Given the description of an element on the screen output the (x, y) to click on. 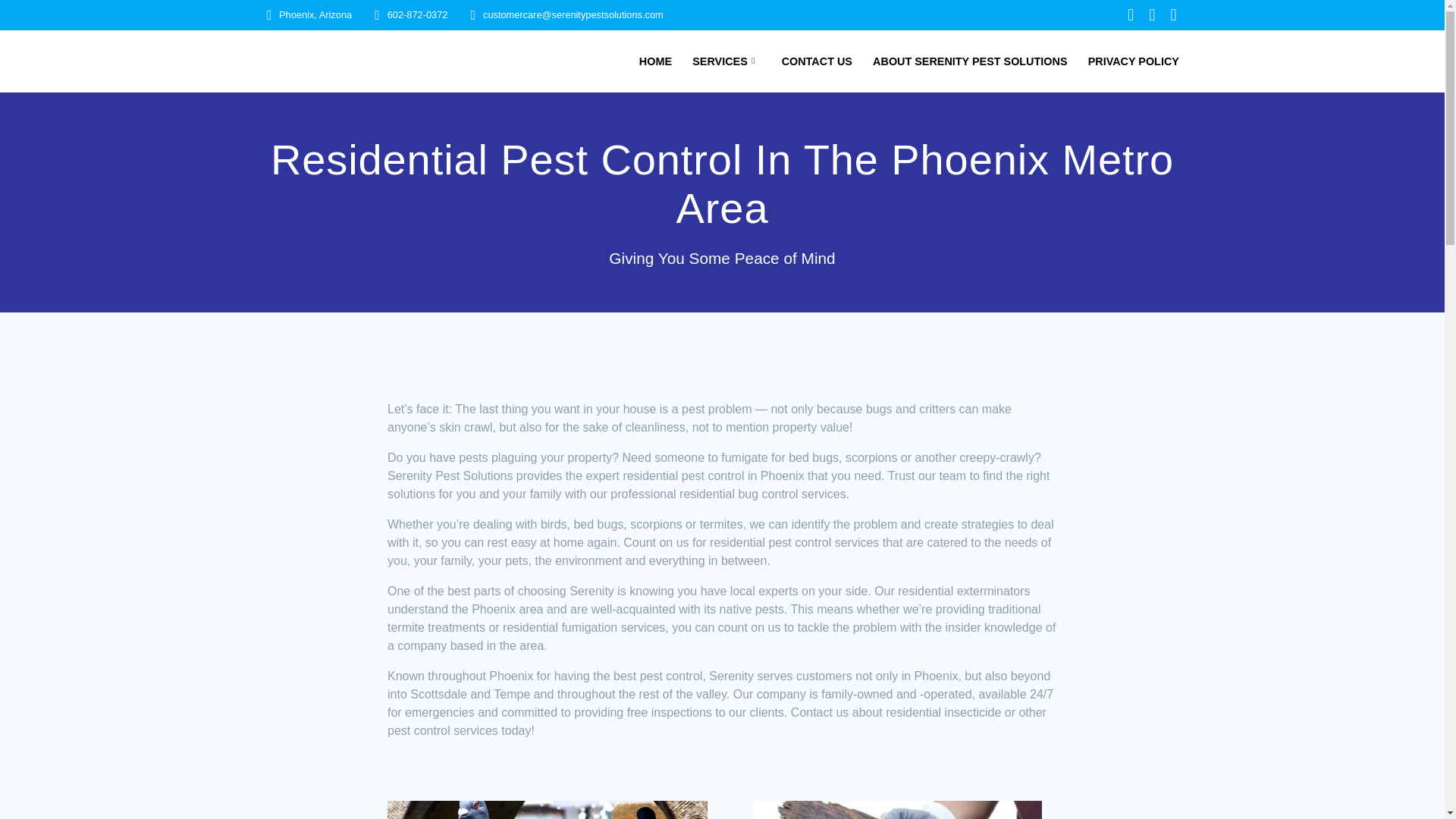
PRIVACY POLICY (1133, 61)
qtq80-iKqyUz (547, 809)
CONTACT US (816, 61)
ABOUT SERENITY PEST SOLUTIONS (969, 61)
SERVICES (726, 61)
HOME (655, 61)
